Given the description of an element on the screen output the (x, y) to click on. 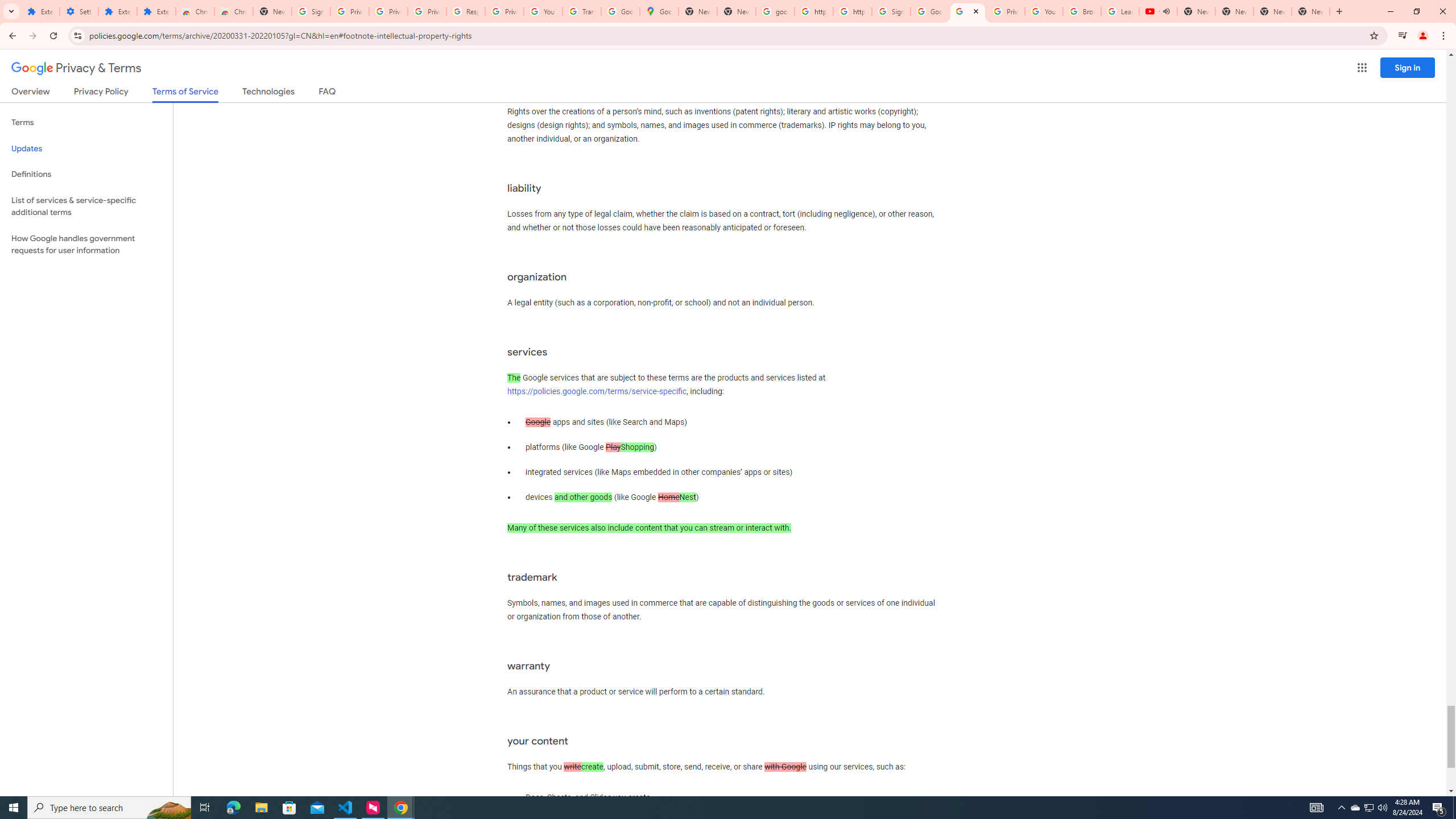
Chrome Web Store - Themes (233, 11)
Sign in - Google Accounts (310, 11)
